Given the description of an element on the screen output the (x, y) to click on. 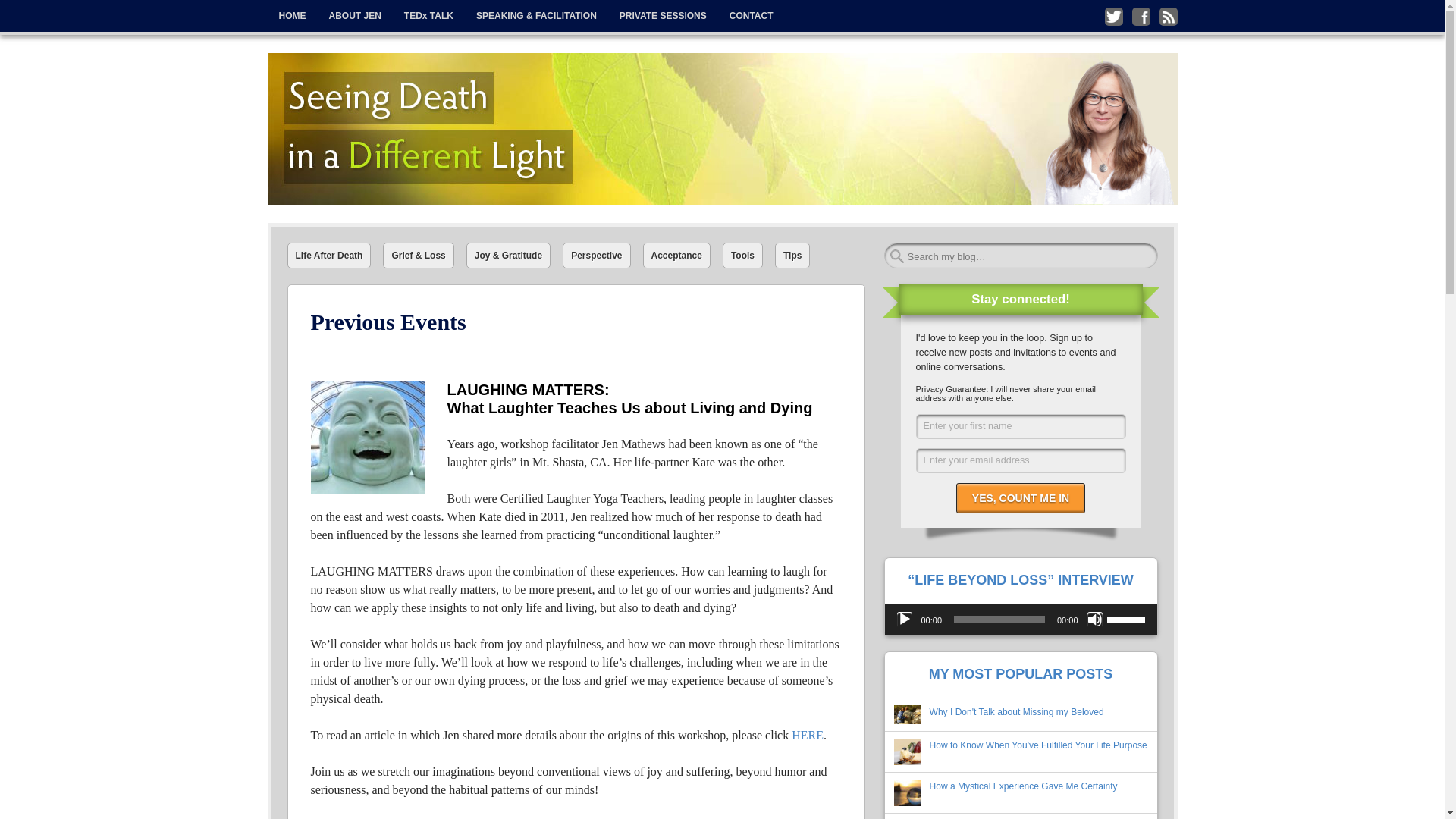
Why I Don't Talk about Missing my Beloved (1016, 711)
Tips (791, 255)
Subscribe to my RSS Feed (1167, 16)
How a Mystical Experience Gave Me Certainty (1024, 786)
PRIVATE SESSIONS (662, 15)
Mute (1094, 619)
Like me on Facebook (1140, 16)
Jennifer Mathews (359, 67)
HOME (291, 15)
Life After Death (328, 255)
Why I Don't Talk about Missing my Beloved (1016, 711)
How to Know When You've Fulfilled Your Life Purpose (1038, 745)
Perspective (596, 255)
Tools (742, 255)
Follow me on Twitter (1112, 16)
